Given the description of an element on the screen output the (x, y) to click on. 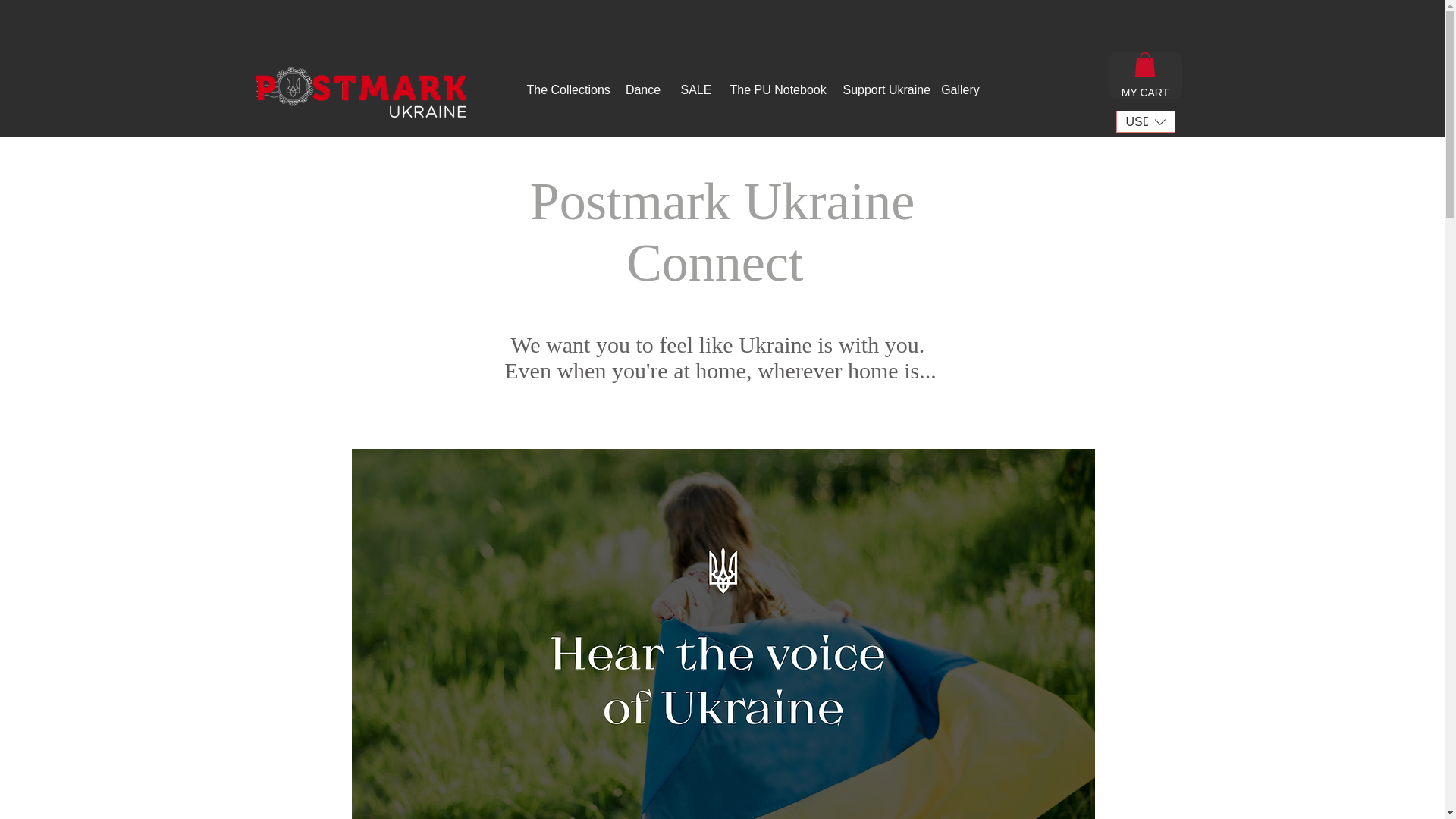
Support Ukraine (886, 90)
The Collections (568, 90)
The PU Notebook (778, 90)
Dance (643, 90)
Gallery (960, 90)
SALE (695, 90)
